Given the description of an element on the screen output the (x, y) to click on. 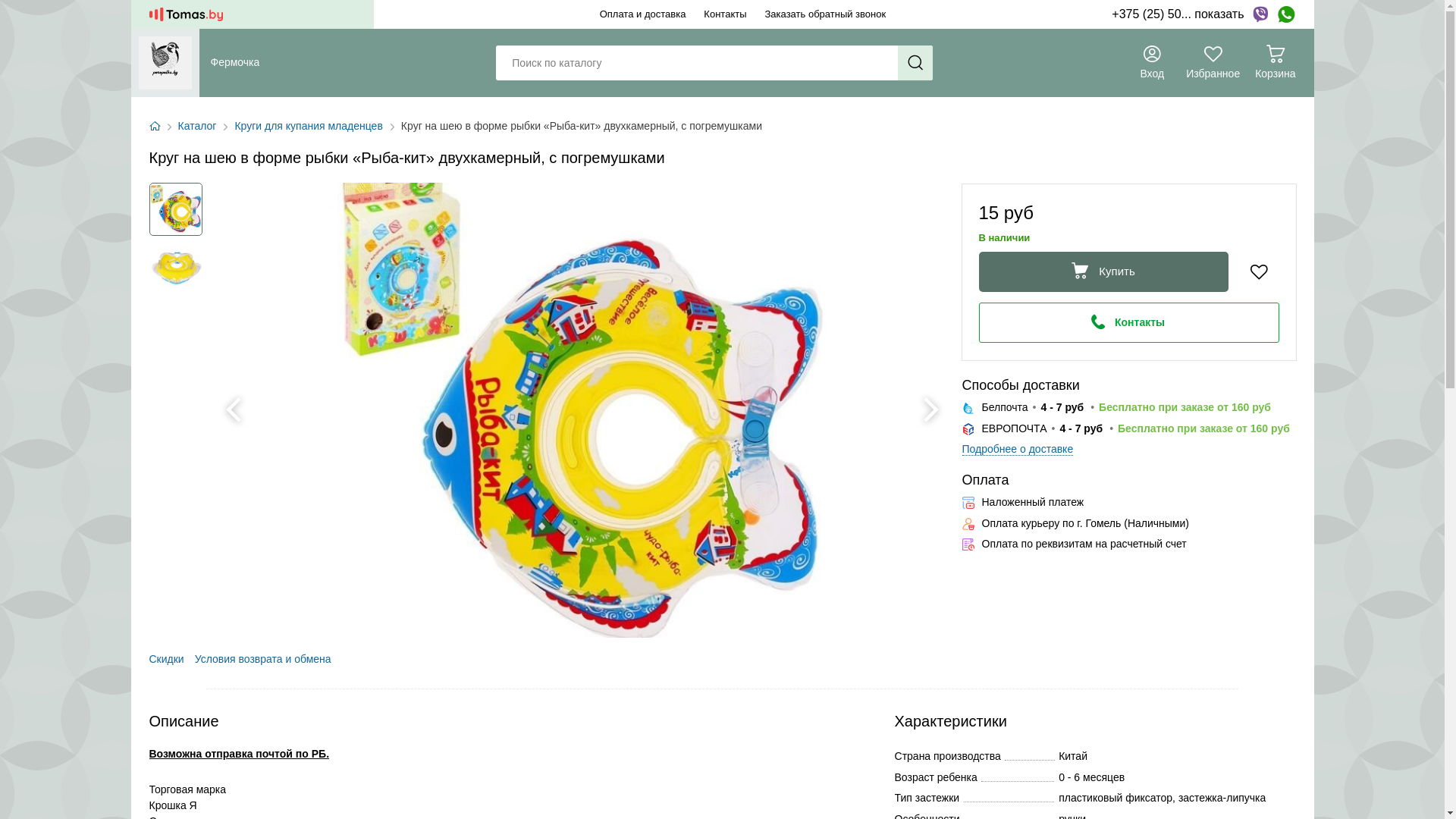
Viber Element type: hover (1260, 14)
WhatsApp Element type: hover (1286, 14)
